Given the description of an element on the screen output the (x, y) to click on. 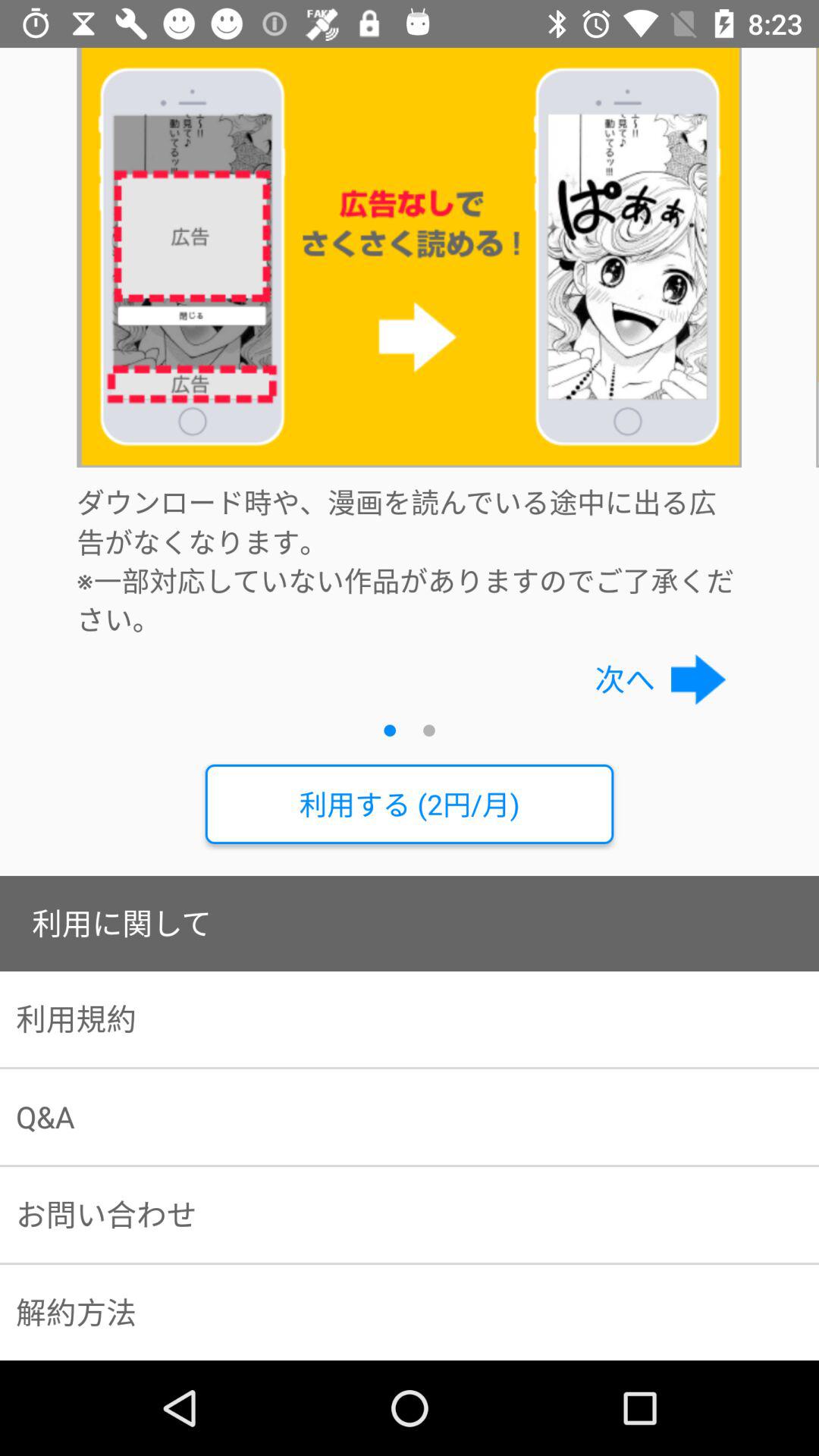
turn on the item above q&a item (409, 1018)
